Given the description of an element on the screen output the (x, y) to click on. 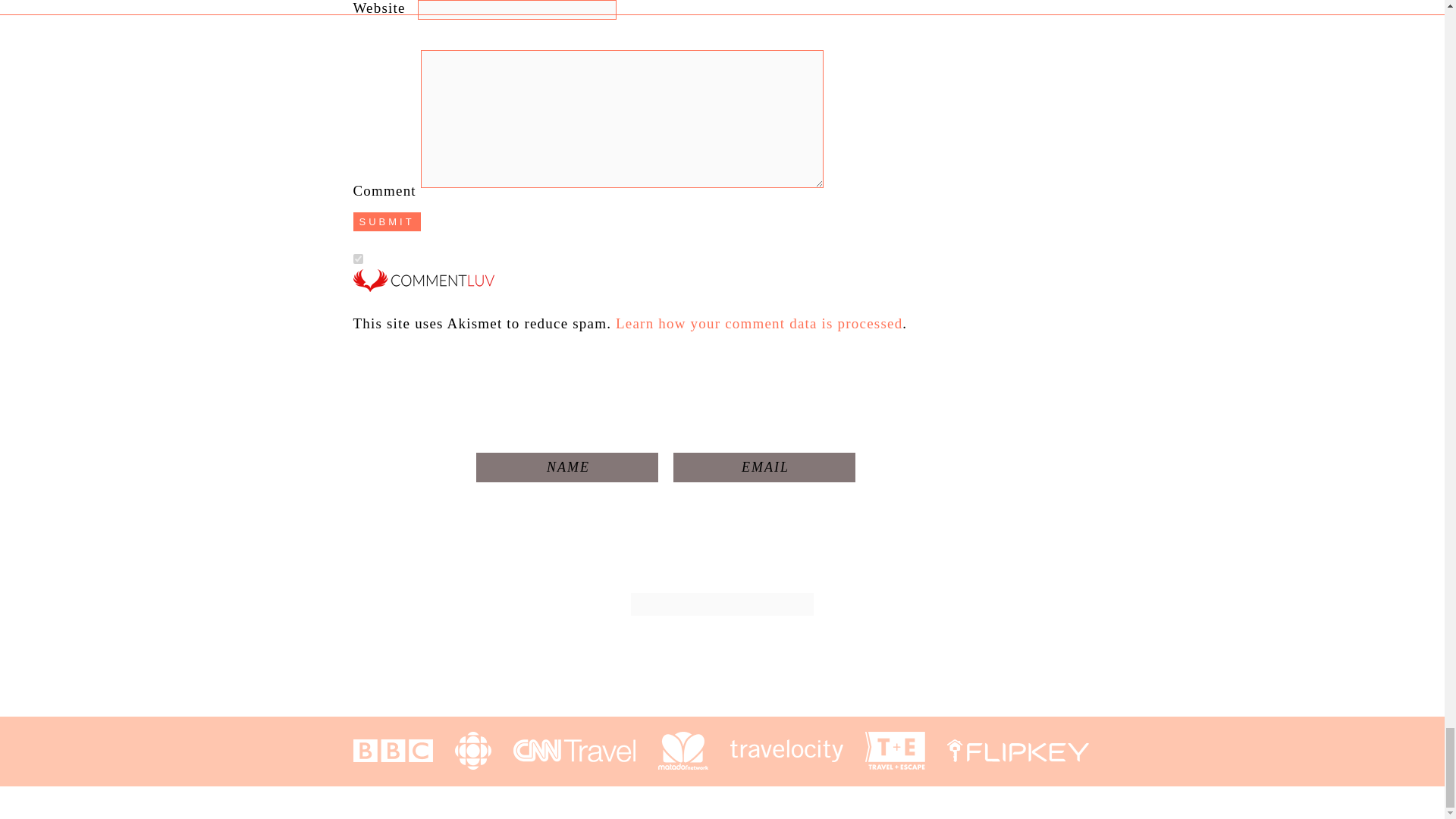
on (357, 258)
Submit (386, 221)
